Given the description of an element on the screen output the (x, y) to click on. 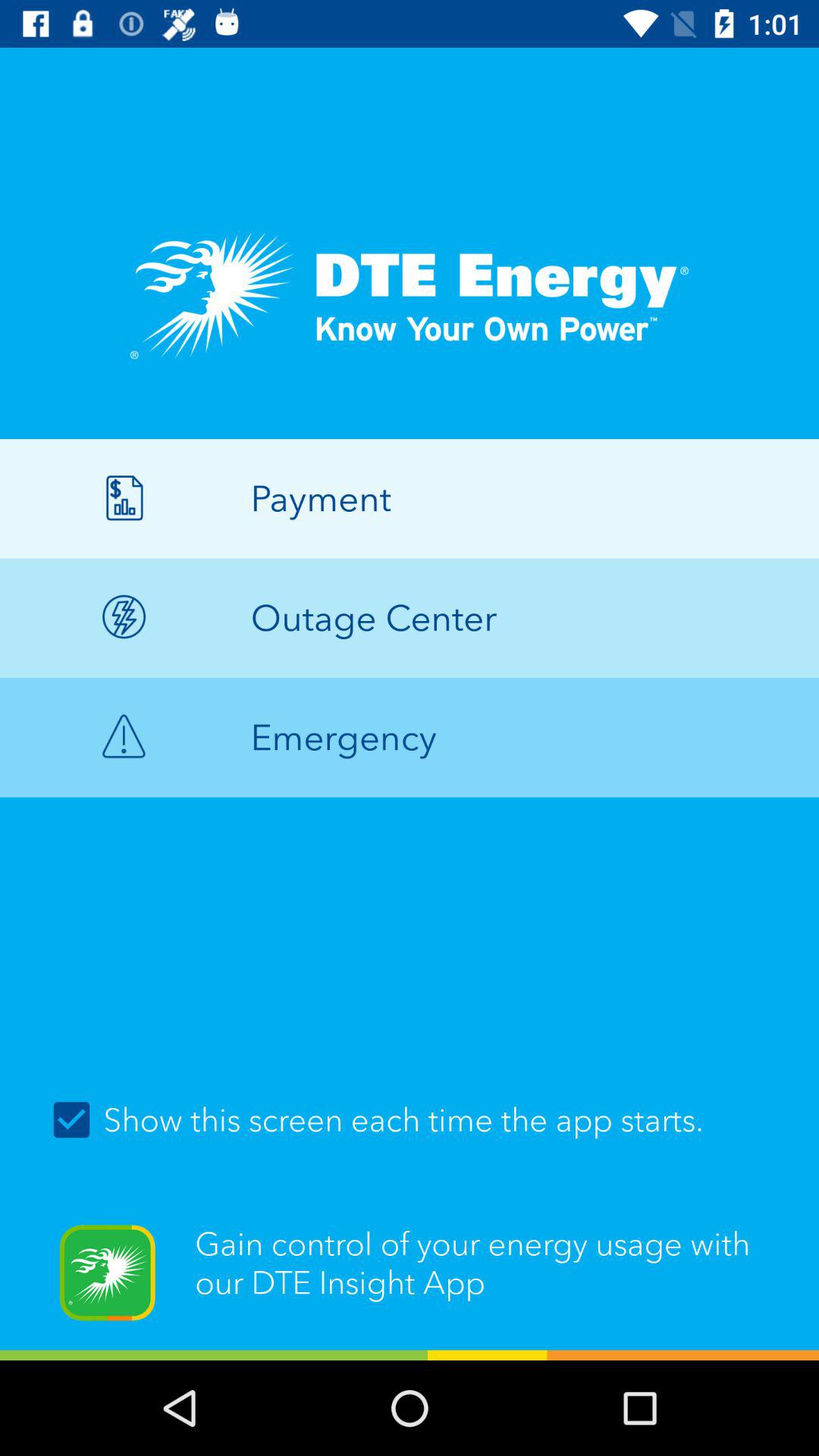
launch the payment icon (409, 498)
